Given the description of an element on the screen output the (x, y) to click on. 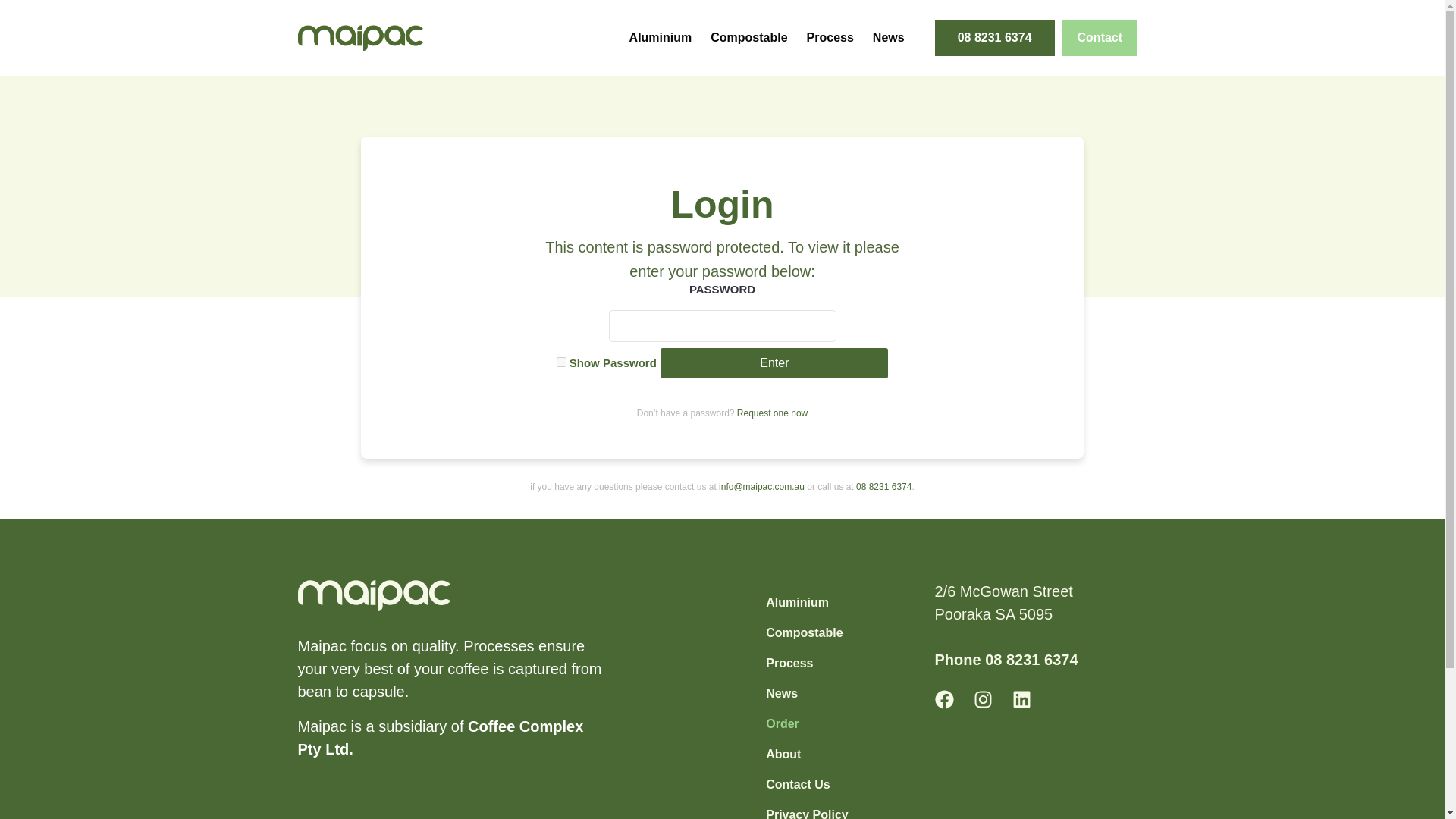
on (561, 361)
08 8231 6374 (994, 37)
Enter (774, 363)
Contact (1100, 37)
Aluminium (807, 603)
Request one now (772, 412)
Privacy Policy (807, 809)
Aluminium (660, 37)
News (888, 37)
News (807, 693)
About (807, 754)
08 8231 6374 (883, 486)
Process (807, 663)
08 8231 6374 (1031, 659)
Order (807, 724)
